Given the description of an element on the screen output the (x, y) to click on. 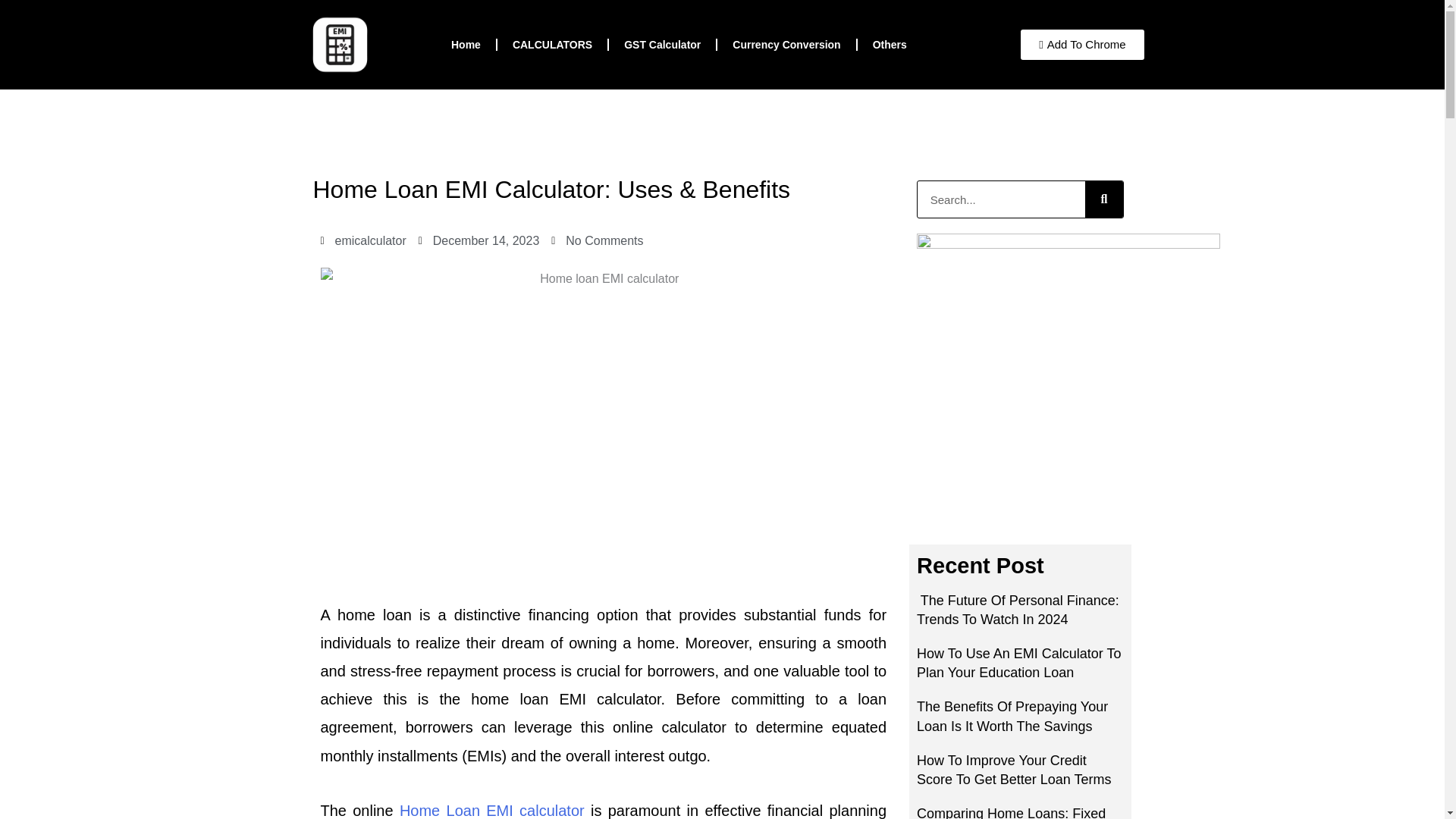
Currency Conversion (786, 44)
CALCULATORS (552, 44)
Others (889, 44)
GST Calculator (662, 44)
Home (465, 44)
